Given the description of an element on the screen output the (x, y) to click on. 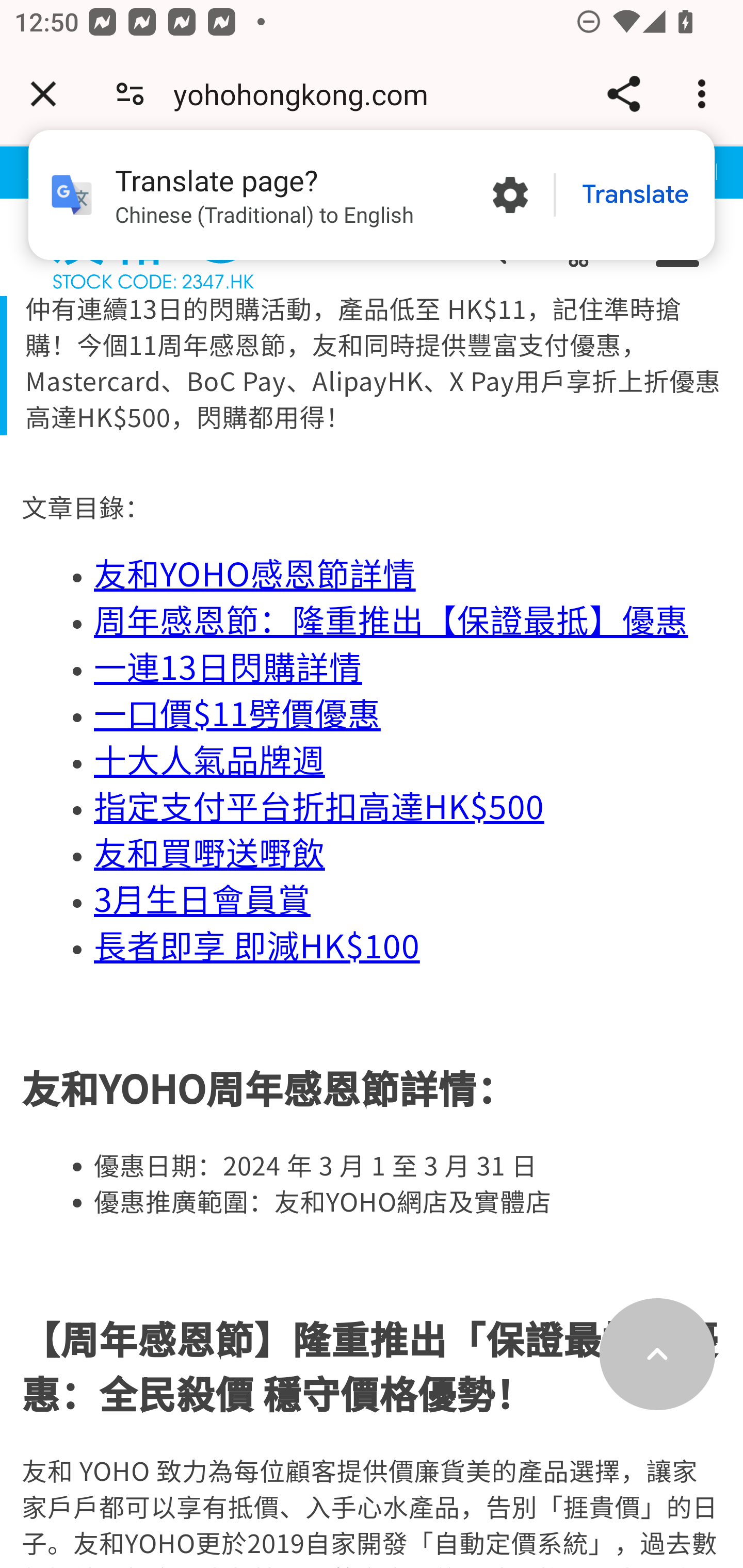
Close tab (43, 93)
Share (623, 93)
Customize and control Google Chrome (705, 93)
Connection is secure (129, 93)
yohohongkong.com (307, 93)
Translate (634, 195)
More options in the Translate page? (509, 195)
友和YOHO感恩節詳情 (254, 574)
周年感恩節：隆重推出【保證最抵】優惠 (391, 621)
一連13日閃購詳情 (227, 668)
一口價$11劈價優惠 (236, 714)
十大人氣品牌週 (209, 761)
指定支付平台折扣高達HK$500 (319, 808)
友和買嘢送嘢飲 (209, 854)
3月生日會員賞 (202, 900)
長者即享 即減HK$100 (256, 946)
